Given the description of an element on the screen output the (x, y) to click on. 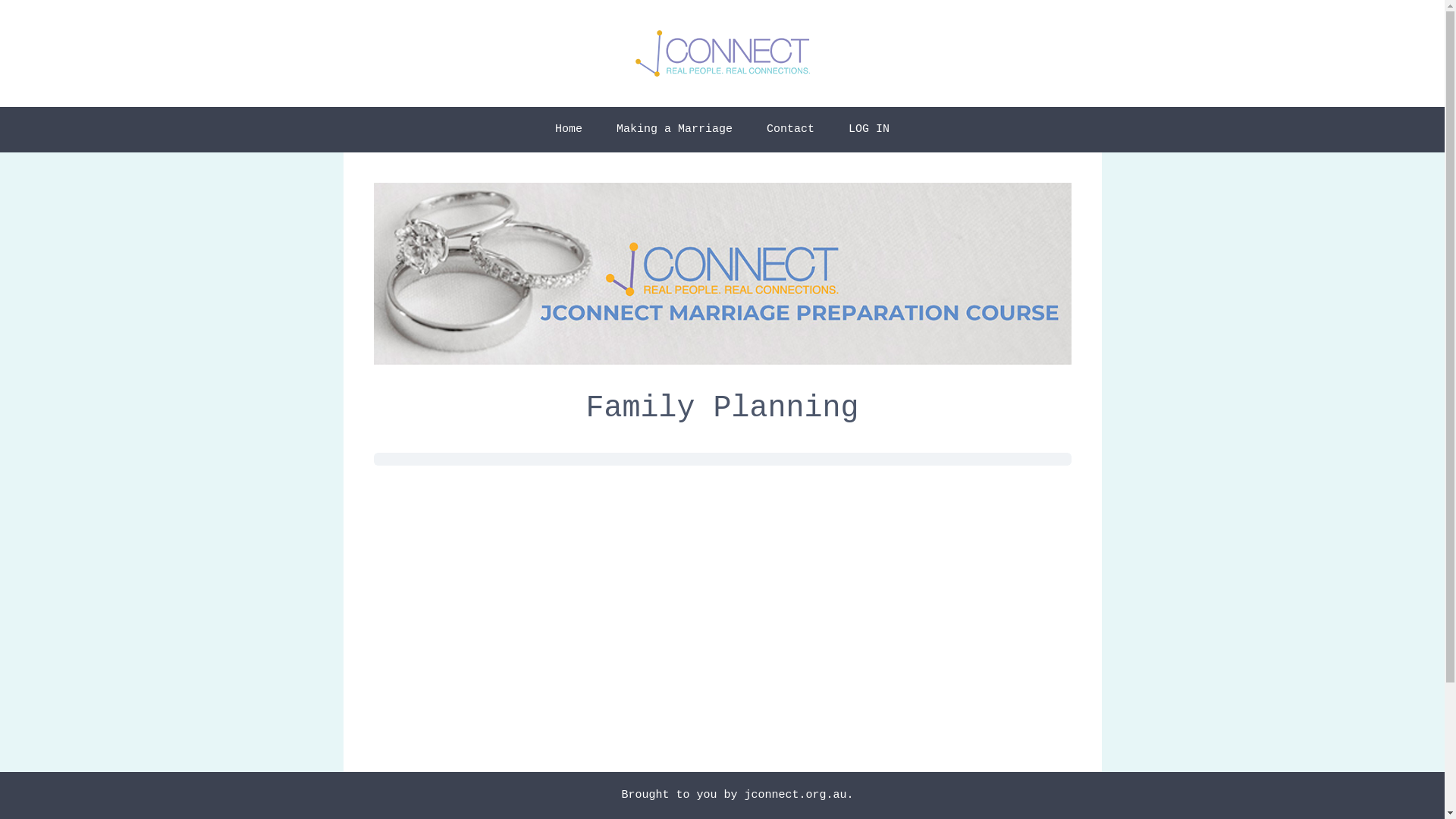
Contact Element type: text (790, 129)
Jconnect Element type: hover (722, 53)
jconnect.org.au Element type: text (794, 794)
LOG IN Element type: text (868, 129)
Jconnect Element type: hover (722, 53)
Making a Marriage Element type: text (674, 129)
Home Element type: text (568, 129)
